Given the description of an element on the screen output the (x, y) to click on. 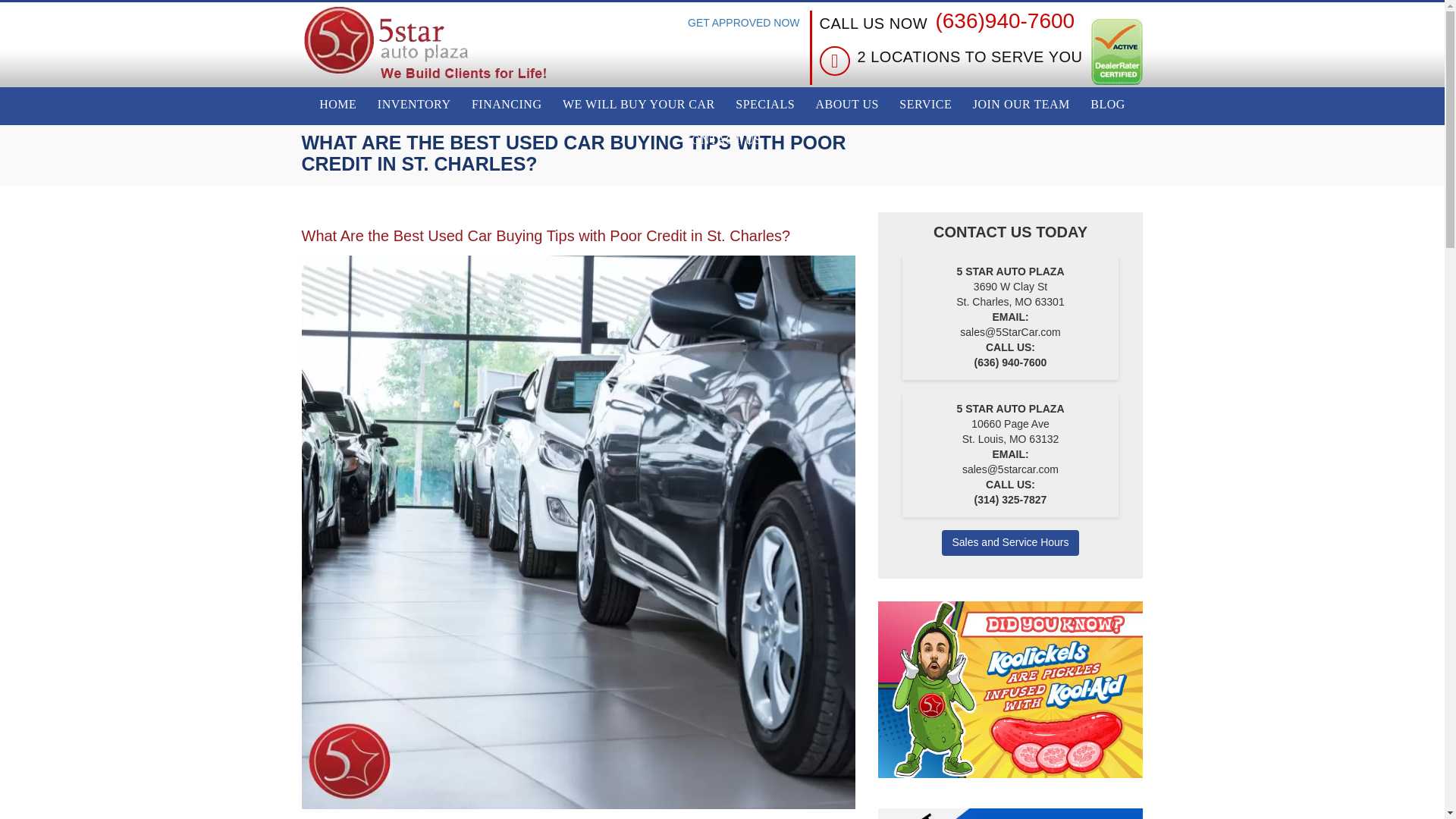
CONTACT US (722, 140)
FINANCING (507, 104)
SERVICE (924, 104)
SPECIALS (764, 104)
INVENTORY (414, 104)
JOIN OUR TEAM (1020, 104)
WE WILL BUY YOUR CAR (638, 104)
BLOG (1107, 104)
GET APPROVED NOW (743, 47)
HOME (337, 104)
